Given the description of an element on the screen output the (x, y) to click on. 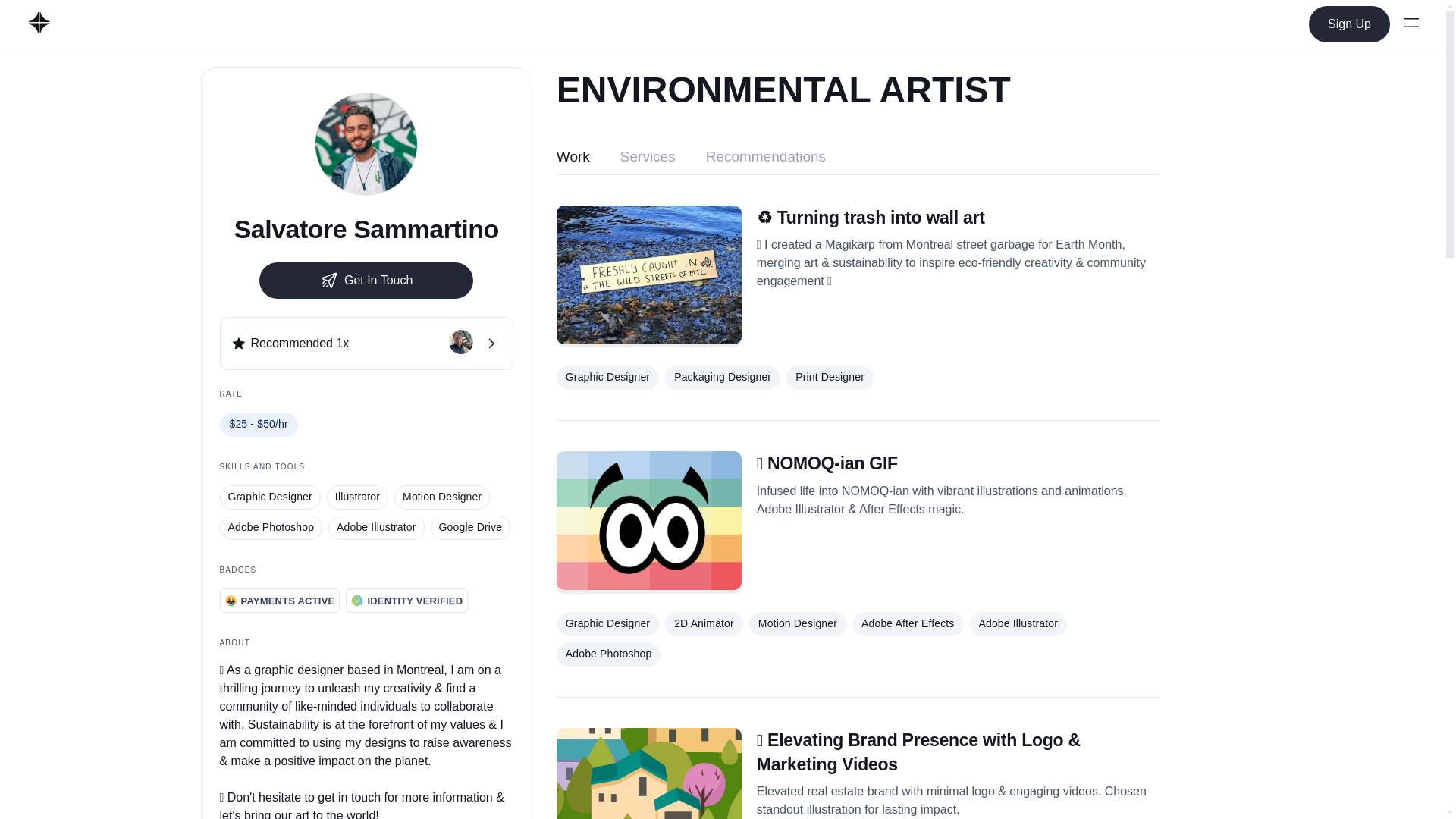
Motion Designer (441, 497)
Services (647, 158)
Recommended 1x (365, 343)
Recommendations (765, 158)
Get In Touch (366, 280)
Adobe Photoshop (271, 527)
Sign Up (1349, 23)
Salvatore Sammartino (366, 229)
Graphic Designer (269, 497)
Work (572, 158)
Illustrator (357, 497)
Adobe Illustrator (377, 527)
Google Drive (470, 527)
